Given the description of an element on the screen output the (x, y) to click on. 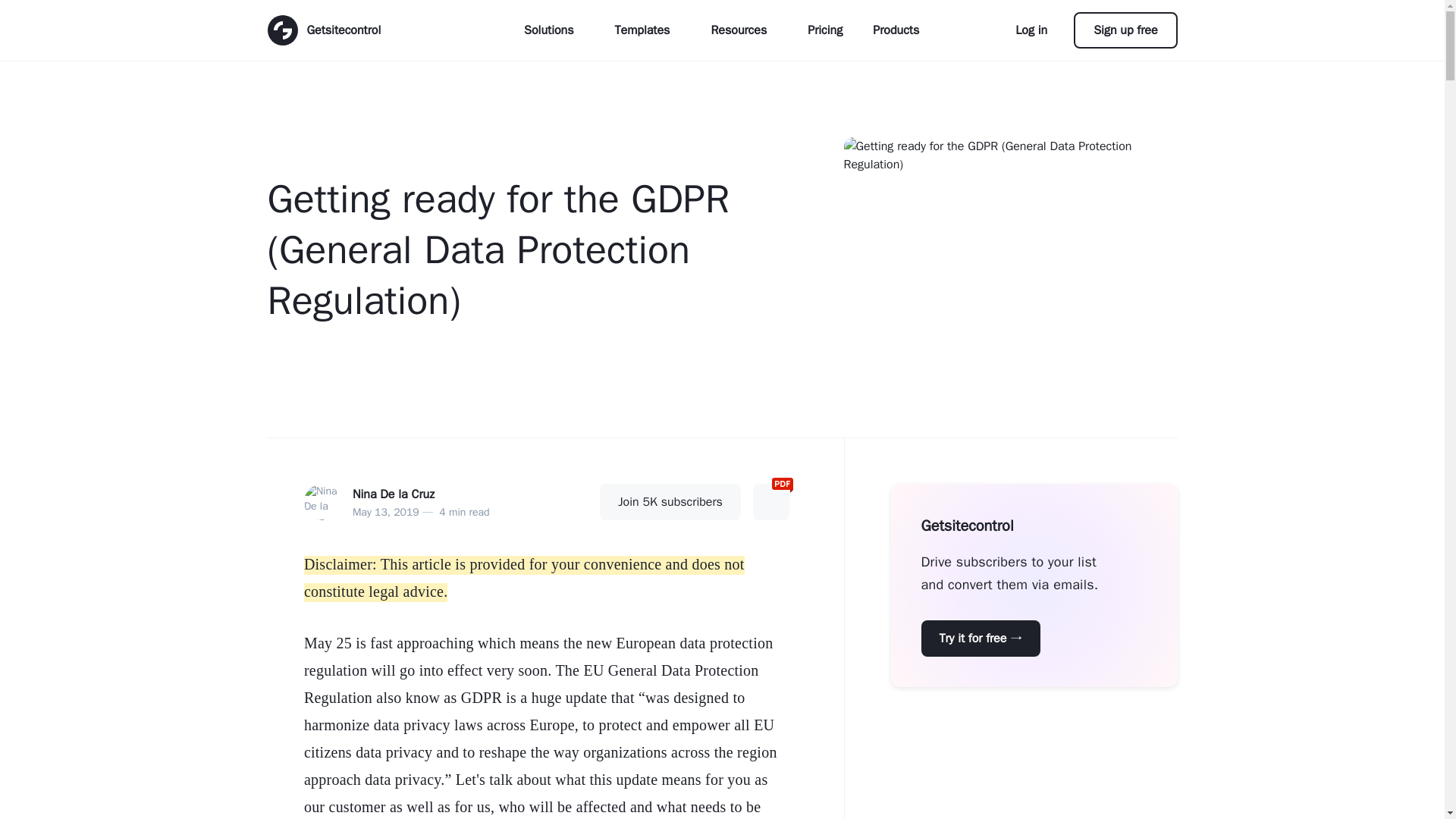
Sign up free (1125, 30)
Pricing (824, 30)
download printable version (770, 502)
Log in (1037, 30)
Getsitecontrol (323, 30)
Join 5K subscribers (670, 502)
